Given the description of an element on the screen output the (x, y) to click on. 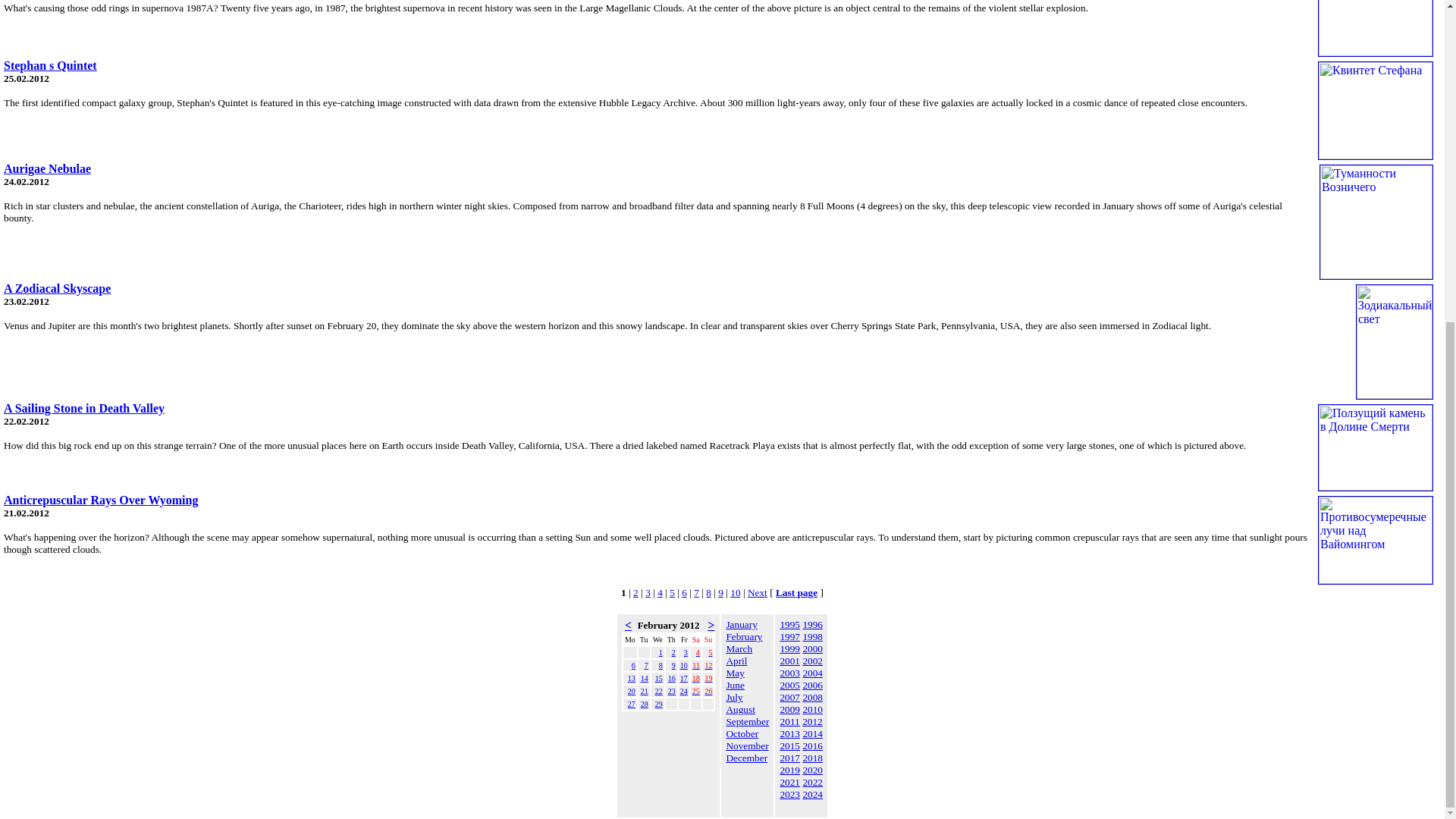
Next (757, 592)
A Zodiacal Skyscape (57, 287)
Last page (796, 592)
Anticrepuscular Rays Over Wyoming (101, 499)
A Sailing Stone in Death Valley (84, 408)
Aurigae Nebulae (47, 168)
Stephan s Quintet (50, 65)
